Given the description of an element on the screen output the (x, y) to click on. 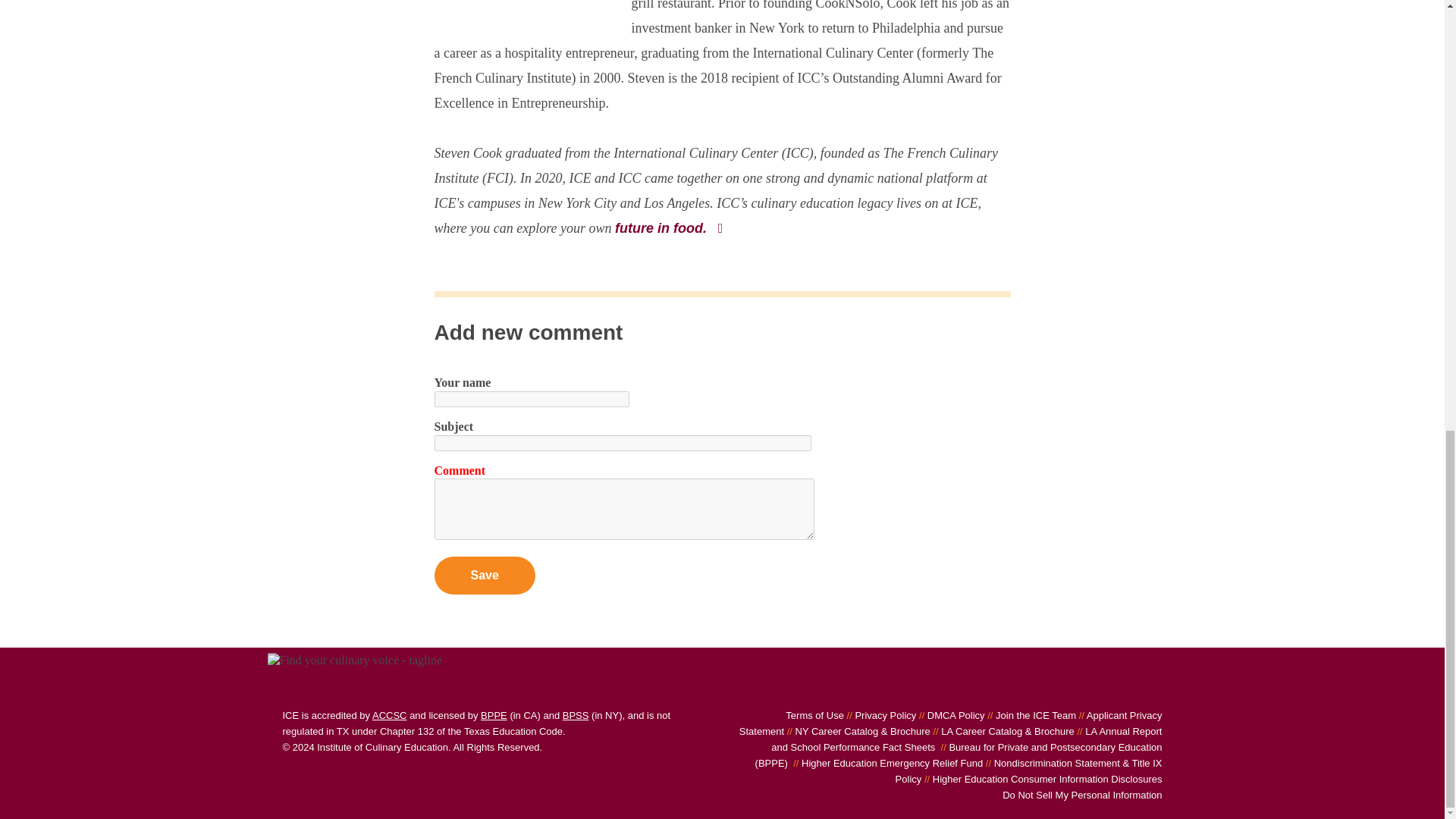
Applicant Privacy Statement (950, 723)
Save (483, 575)
BPSS (575, 715)
LA Annual Report and School Performance Fact Sheets (966, 738)
ACCSC (389, 715)
Join the ICE Team (1030, 715)
Bureau for Private Postsecondary Education (493, 715)
Save (483, 575)
DMCA Policy (949, 715)
Privacy Policy (879, 715)
future in food. (669, 227)
Higher Education Emergency Relief Fund (887, 763)
Terms of Use (815, 715)
BPPE (493, 715)
Accrediting Commission of Career Schools and Colleges (389, 715)
